Given the description of an element on the screen output the (x, y) to click on. 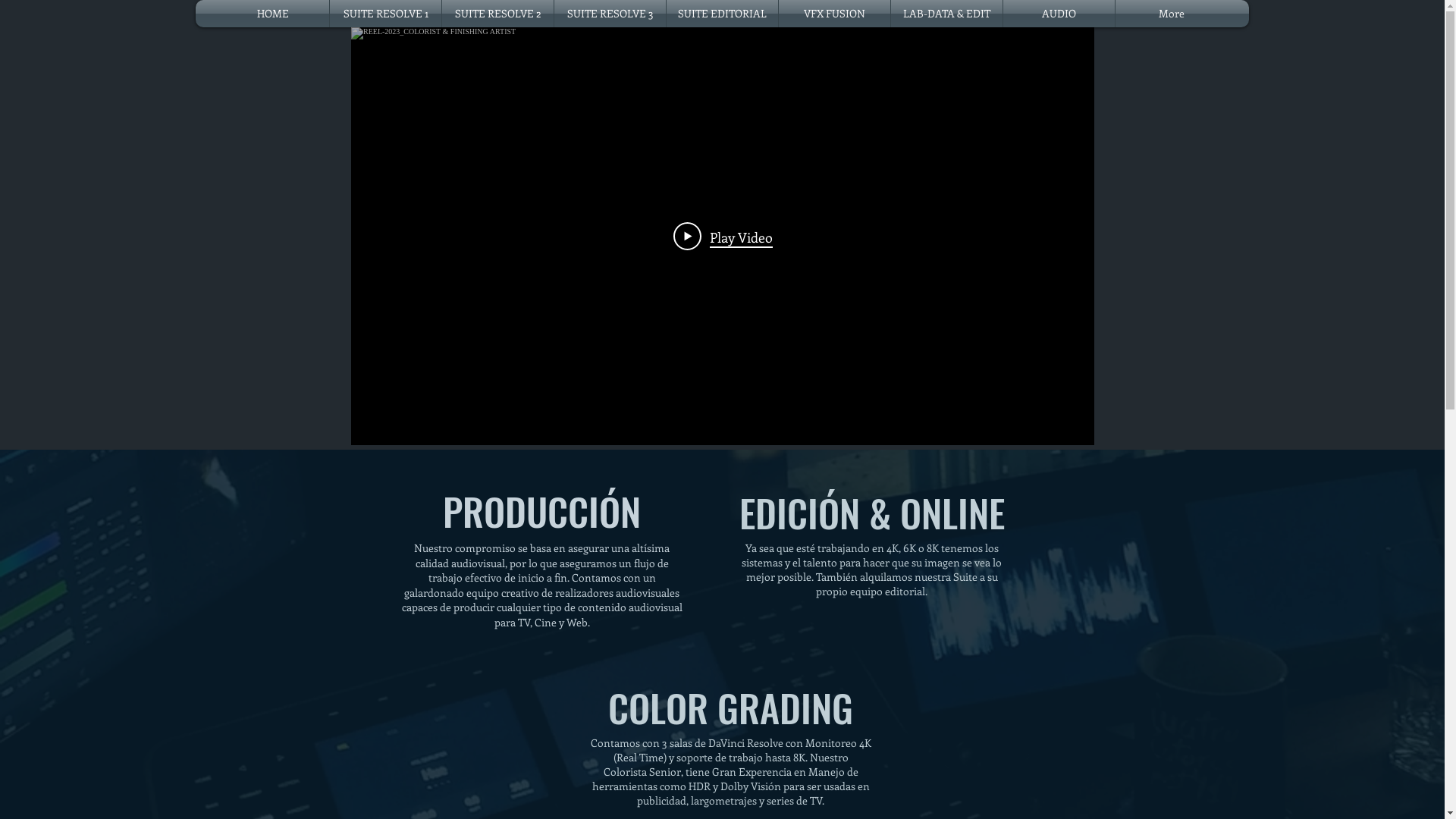
LAB-DATA & EDIT Element type: text (946, 13)
VFX FUSION Element type: text (834, 13)
AUDIO Element type: text (1058, 13)
SUITE RESOLVE 2 Element type: text (497, 13)
SUITE RESOLVE 1 Element type: text (385, 13)
HOME Element type: text (272, 13)
SUITE RESOLVE 3 Element type: text (609, 13)
SUITE EDITORIAL Element type: text (722, 13)
